Given the description of an element on the screen output the (x, y) to click on. 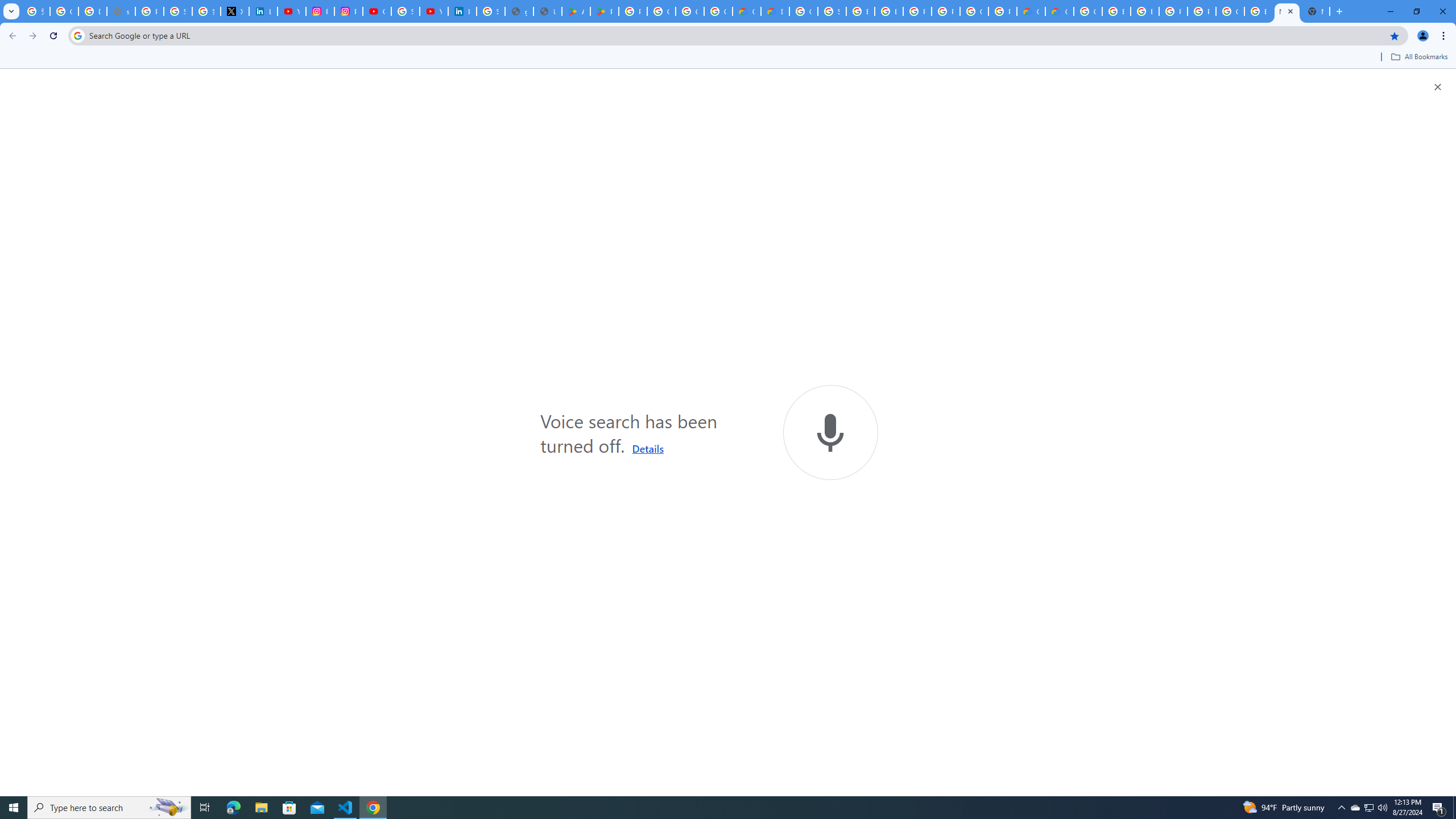
Google Cloud Estimate Summary (1058, 11)
